Given the description of an element on the screen output the (x, y) to click on. 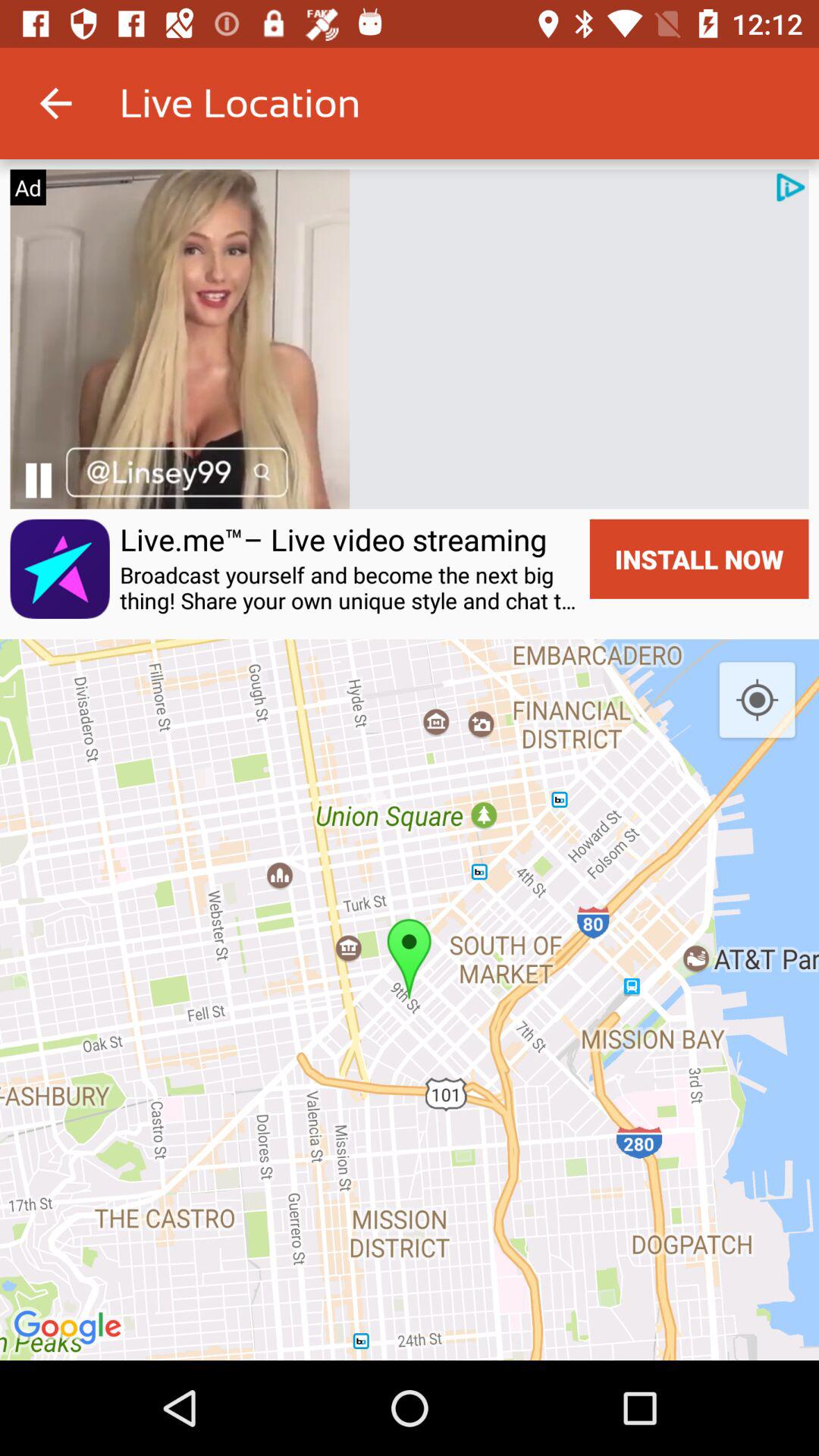
turn on icon to the left of live location icon (55, 103)
